Given the description of an element on the screen output the (x, y) to click on. 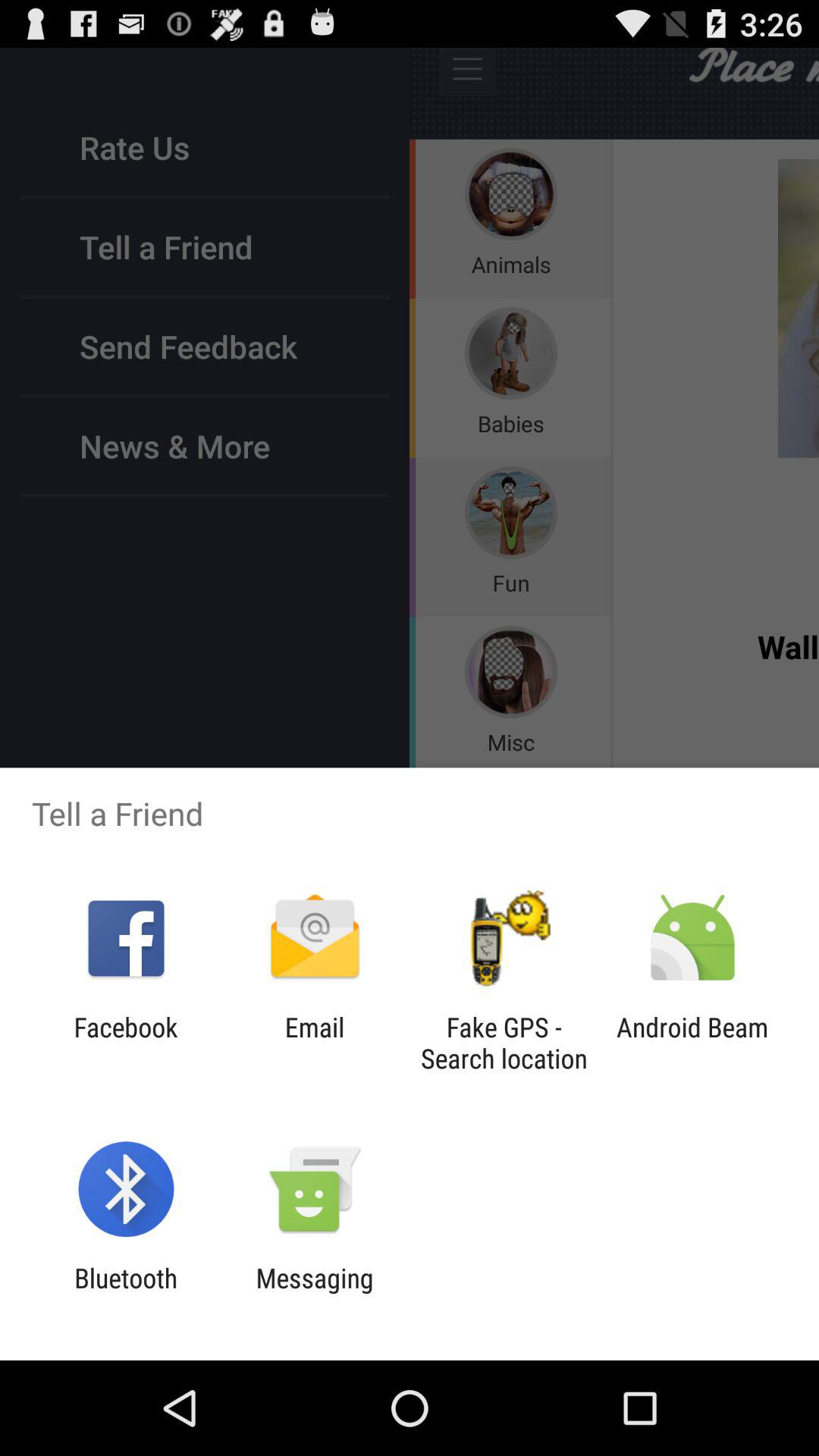
launch the messaging (314, 1293)
